Given the description of an element on the screen output the (x, y) to click on. 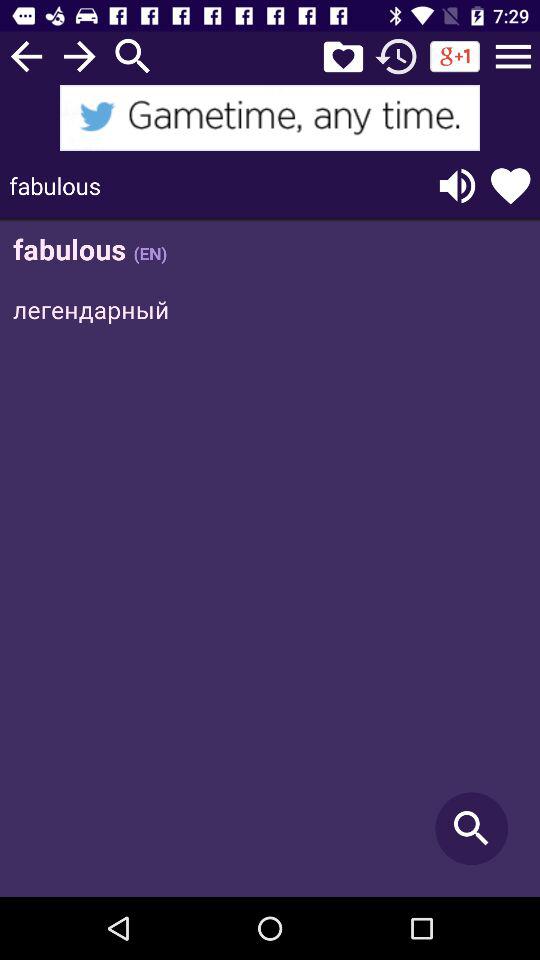
favorite this word (510, 185)
